Given the description of an element on the screen output the (x, y) to click on. 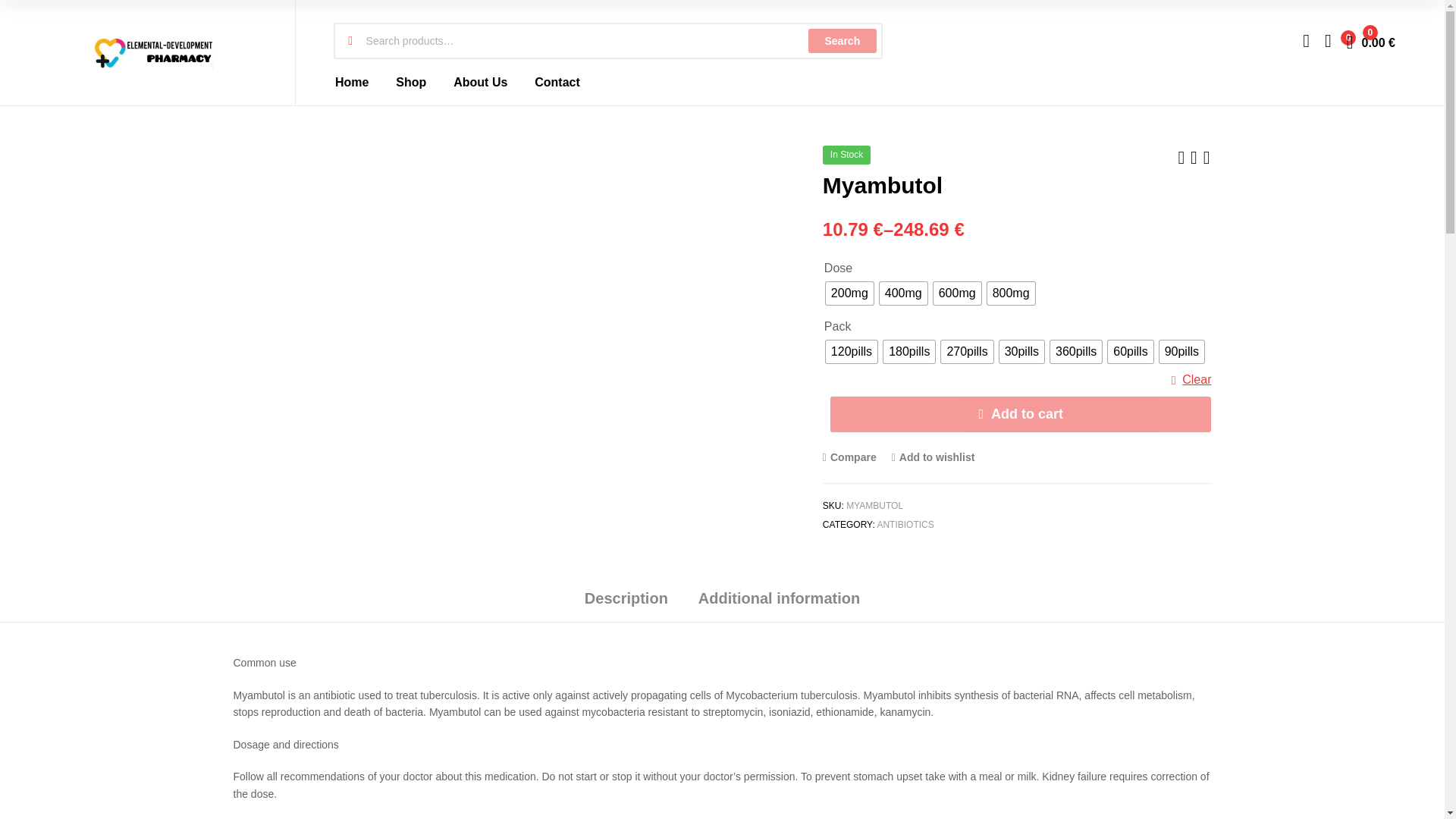
120pills (851, 351)
Description (625, 603)
Contact (557, 81)
alfa shell (146, 8)
bahisal (10, 8)
Compare (849, 457)
ANTIBIOTICS (904, 524)
Add to cart (1020, 414)
Additional information (778, 603)
shell indir (100, 8)
200mg (849, 292)
400mg (903, 292)
shell indir (26, 8)
View your shopping cart (1370, 41)
Clear (1191, 380)
